Given the description of an element on the screen output the (x, y) to click on. 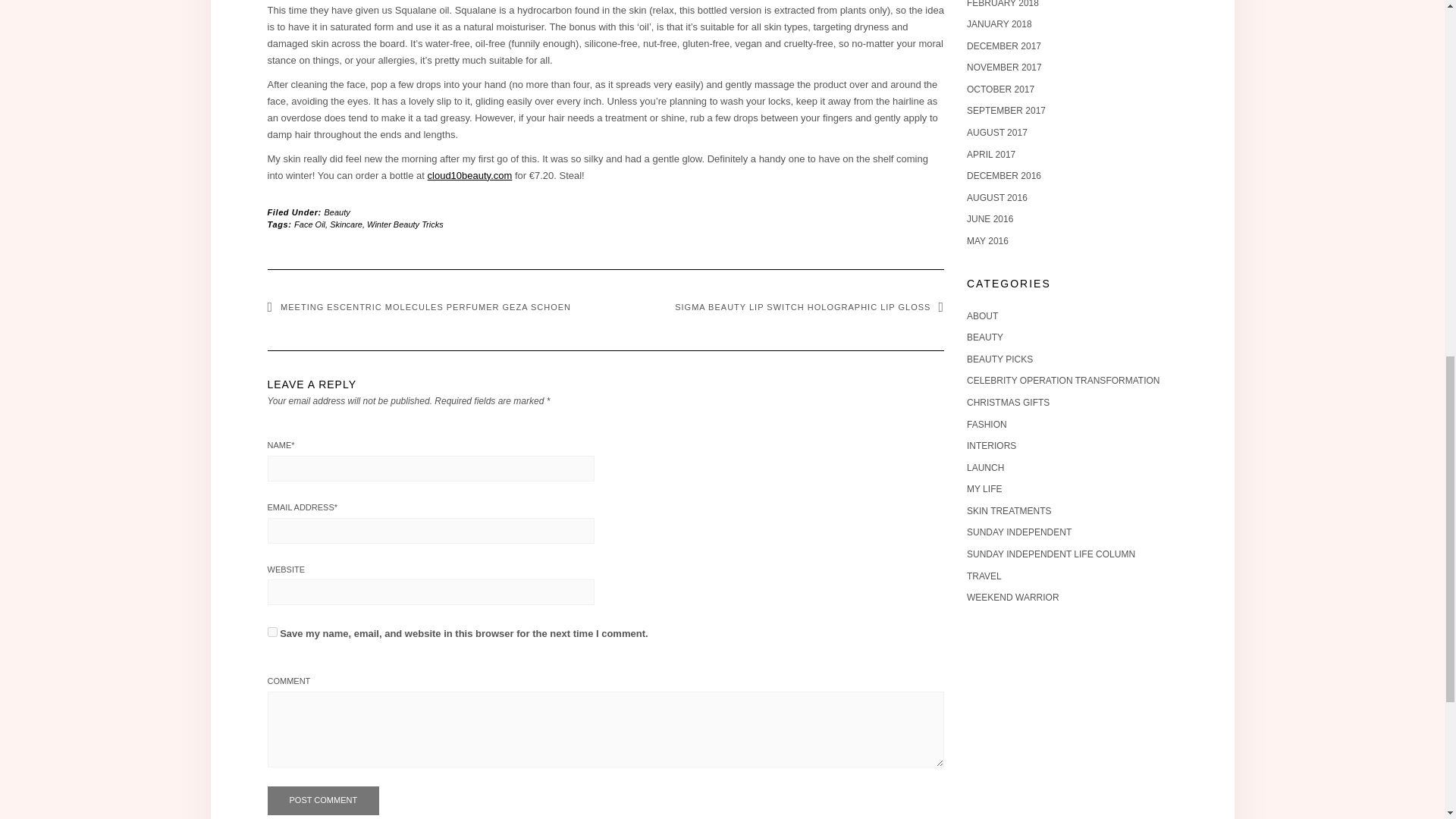
SIGMA BEAUTY LIP SWITCH HOLOGRAPHIC LIP GLOSS (809, 307)
yes (271, 632)
Skincare (346, 224)
Face Oil (309, 224)
Post Comment (322, 800)
cloud10beauty.com (470, 174)
Winter Beauty Tricks (405, 224)
MEETING ESCENTRIC MOLECULES PERFUMER GEZA SCHOEN (418, 307)
Beauty (337, 212)
Post Comment (322, 800)
